Given the description of an element on the screen output the (x, y) to click on. 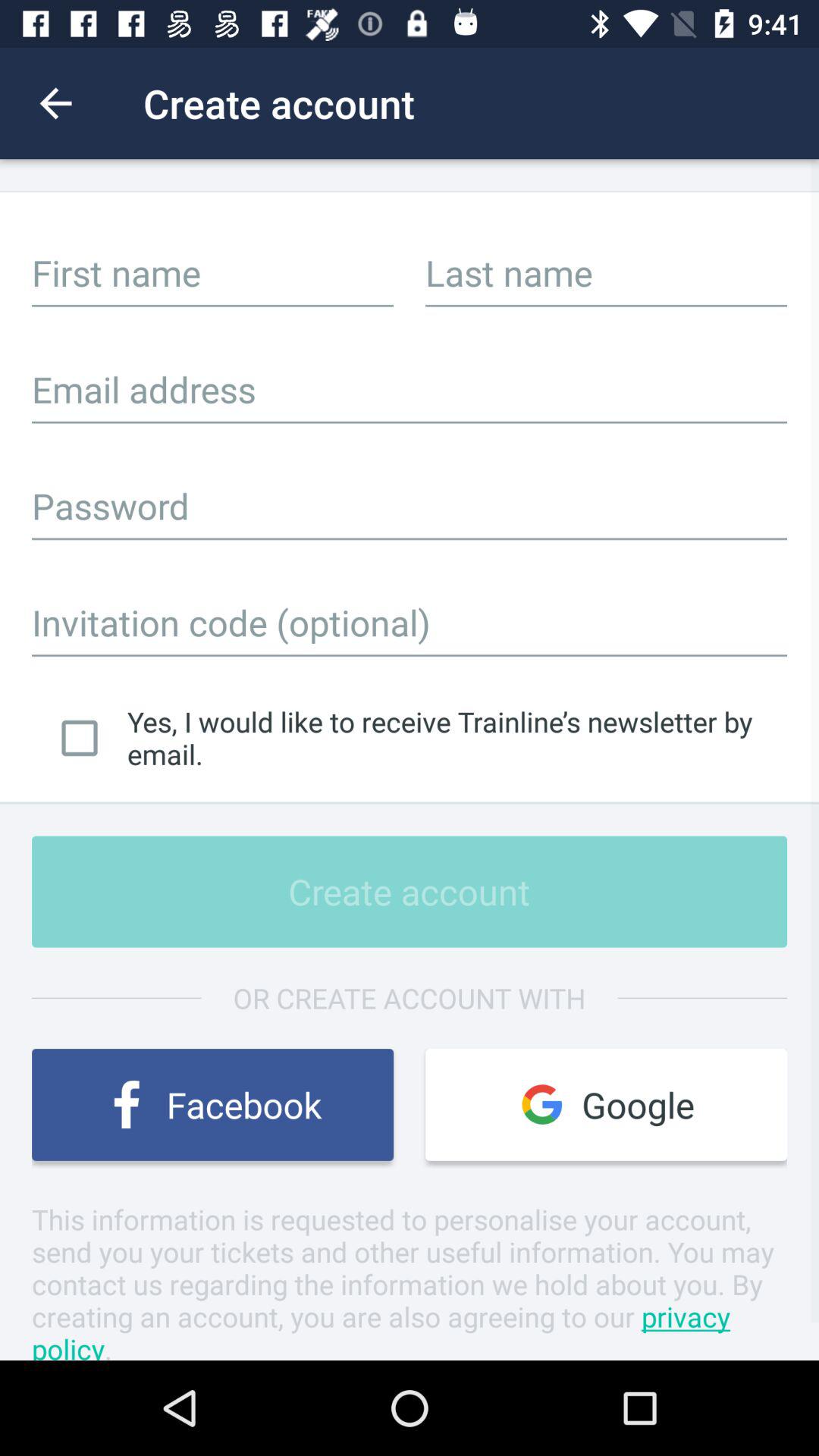
enter first name (212, 272)
